Given the description of an element on the screen output the (x, y) to click on. 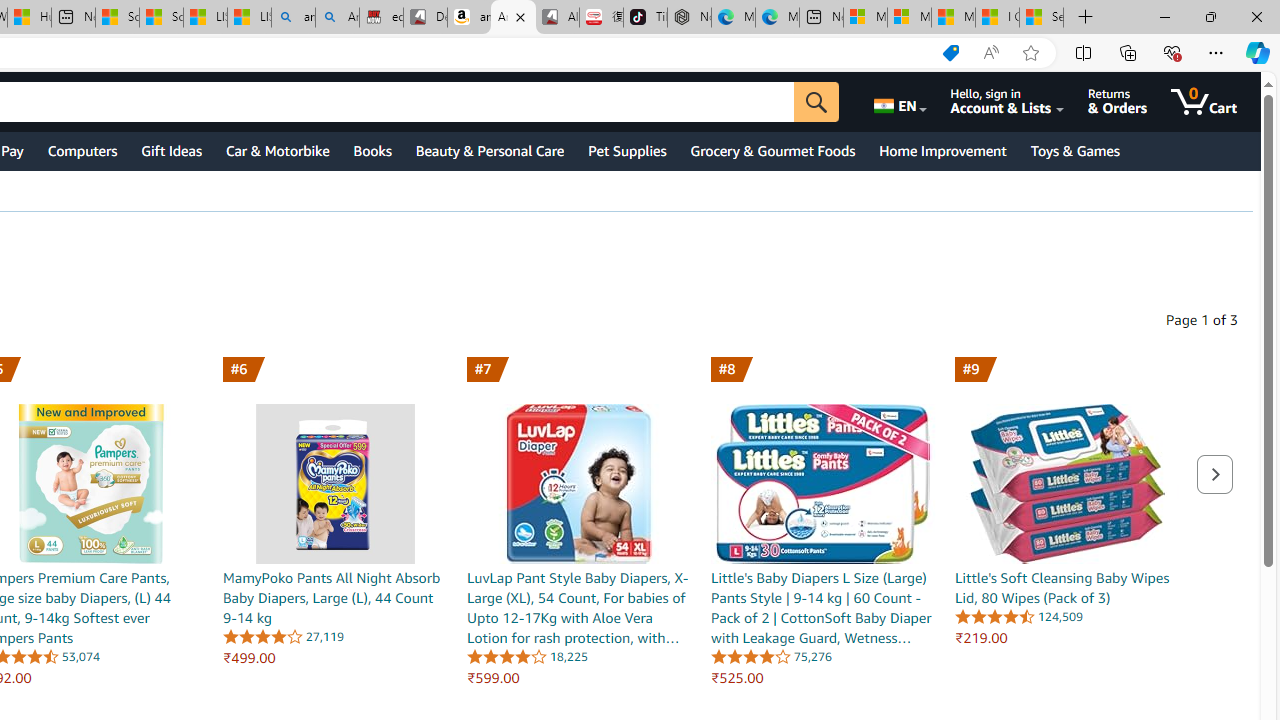
Shopping in Microsoft Edge (950, 53)
Returns & Orders (1117, 101)
Class: a-link-normal (1067, 587)
Computers (82, 150)
TikTok (644, 17)
Car & Motorbike (276, 150)
Pet Supplies (627, 150)
Choose a language for shopping. (898, 101)
Little's Soft Cleansing Baby Wipes Lid, 80 Wipes (Pack of 3) (1067, 460)
